Given the description of an element on the screen output the (x, y) to click on. 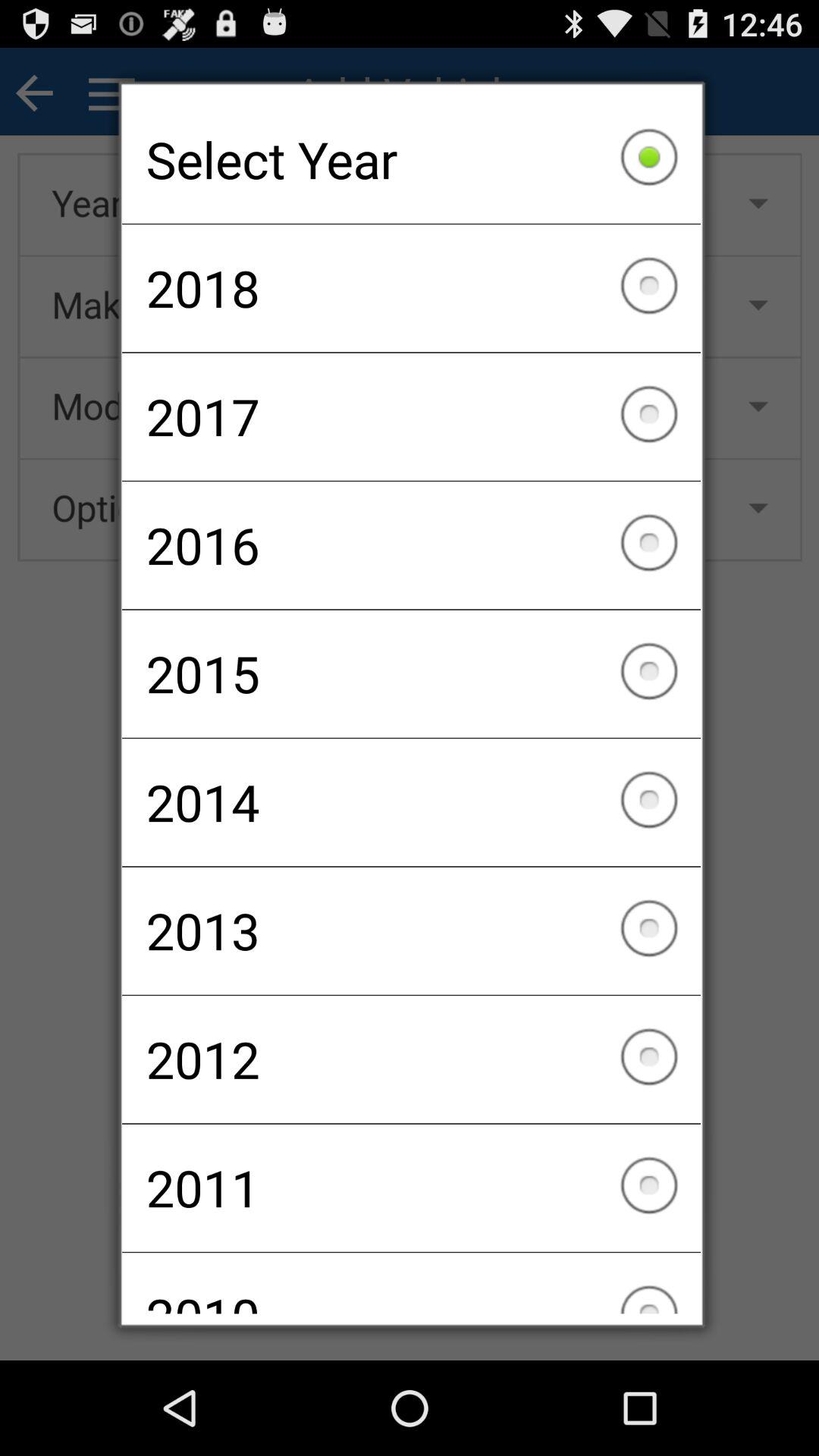
jump until 2018 checkbox (411, 288)
